Given the description of an element on the screen output the (x, y) to click on. 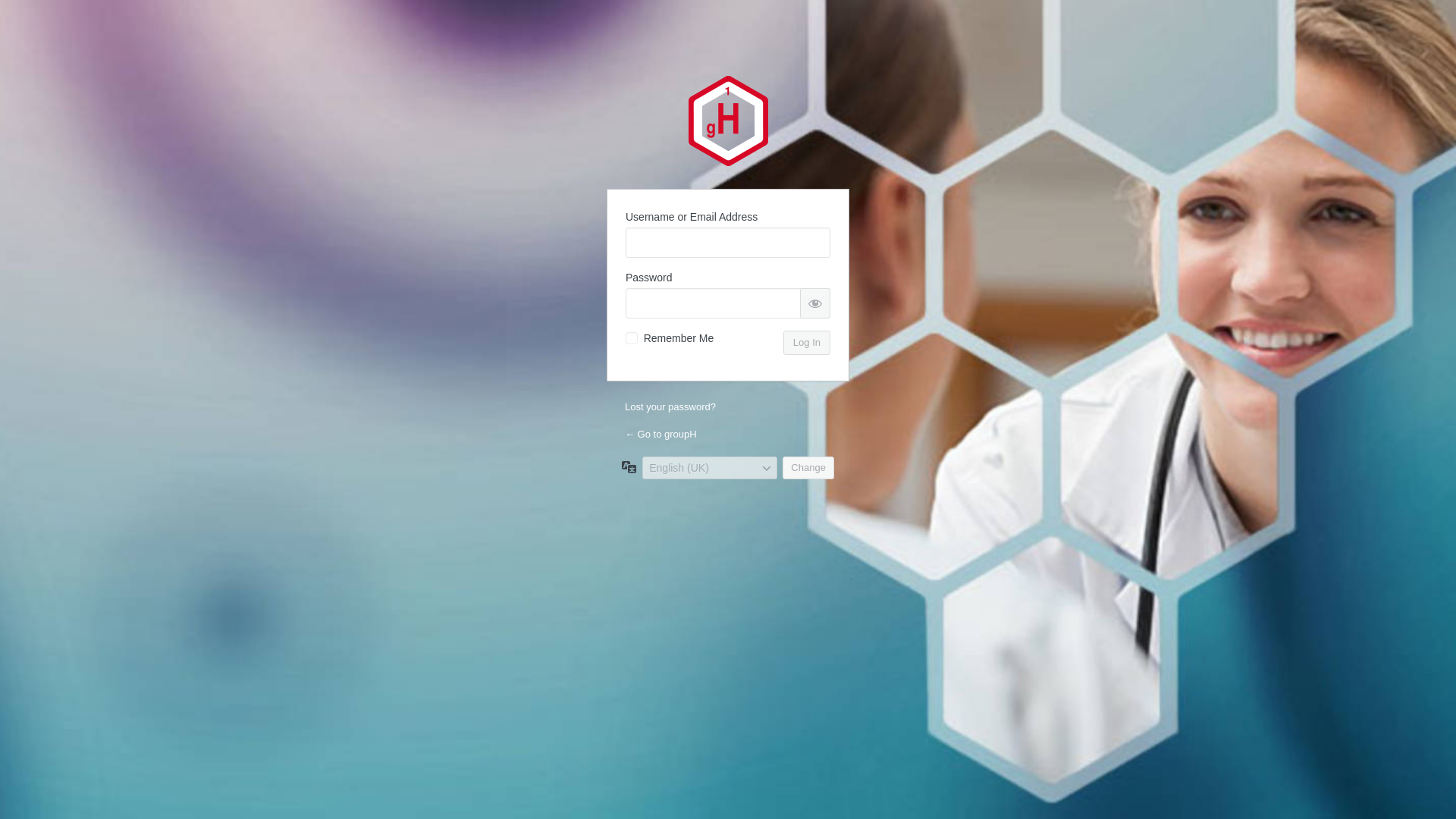
Log In (806, 342)
Lost your password? (670, 406)
Change (808, 467)
GroupH (727, 120)
Log In (806, 342)
Change (808, 467)
forever (631, 337)
